Given the description of an element on the screen output the (x, y) to click on. 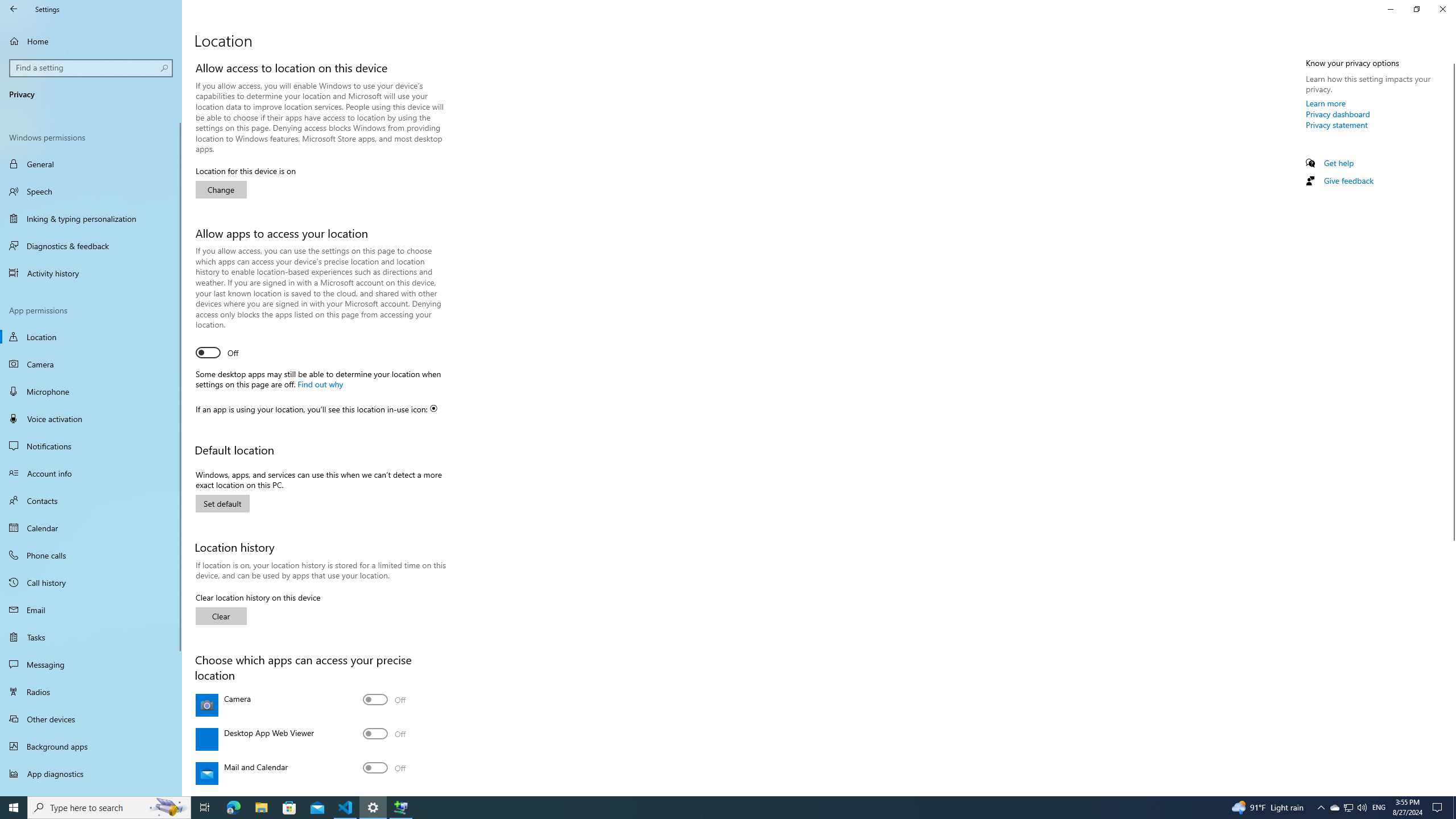
Inking & typing personalization (91, 217)
Radios (91, 691)
Allow apps to access your location (216, 352)
Microphone (91, 390)
Close Settings (1442, 9)
Diagnostics & feedback (91, 245)
Activity history (91, 272)
Find out why (319, 383)
Contacts (91, 500)
Desktop App Web Viewer (384, 733)
